Given the description of an element on the screen output the (x, y) to click on. 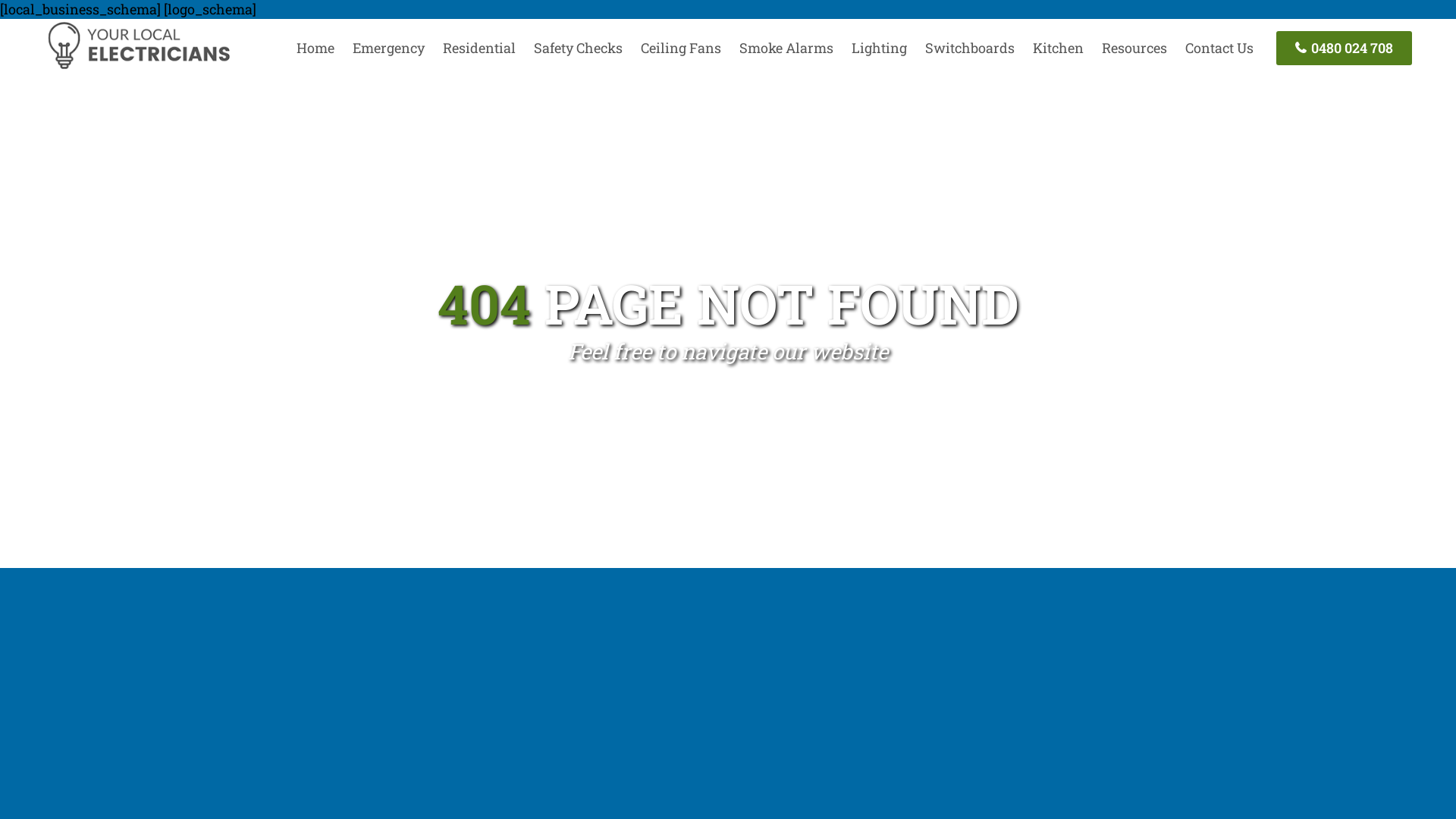
Lighting Element type: text (879, 47)
Contact Us Element type: text (1219, 47)
Switchboards Element type: text (969, 47)
Residential Element type: text (479, 47)
Resources Element type: text (1134, 47)
Ceiling Fans Element type: text (680, 47)
0480 024 708 Element type: text (1344, 48)
Emergency Element type: text (388, 47)
Smoke Alarms Element type: text (785, 47)
Electricians Element type: hover (137, 66)
Safety Checks Element type: text (578, 47)
Home Element type: text (315, 47)
Kitchen Element type: text (1058, 47)
